Given the description of an element on the screen output the (x, y) to click on. 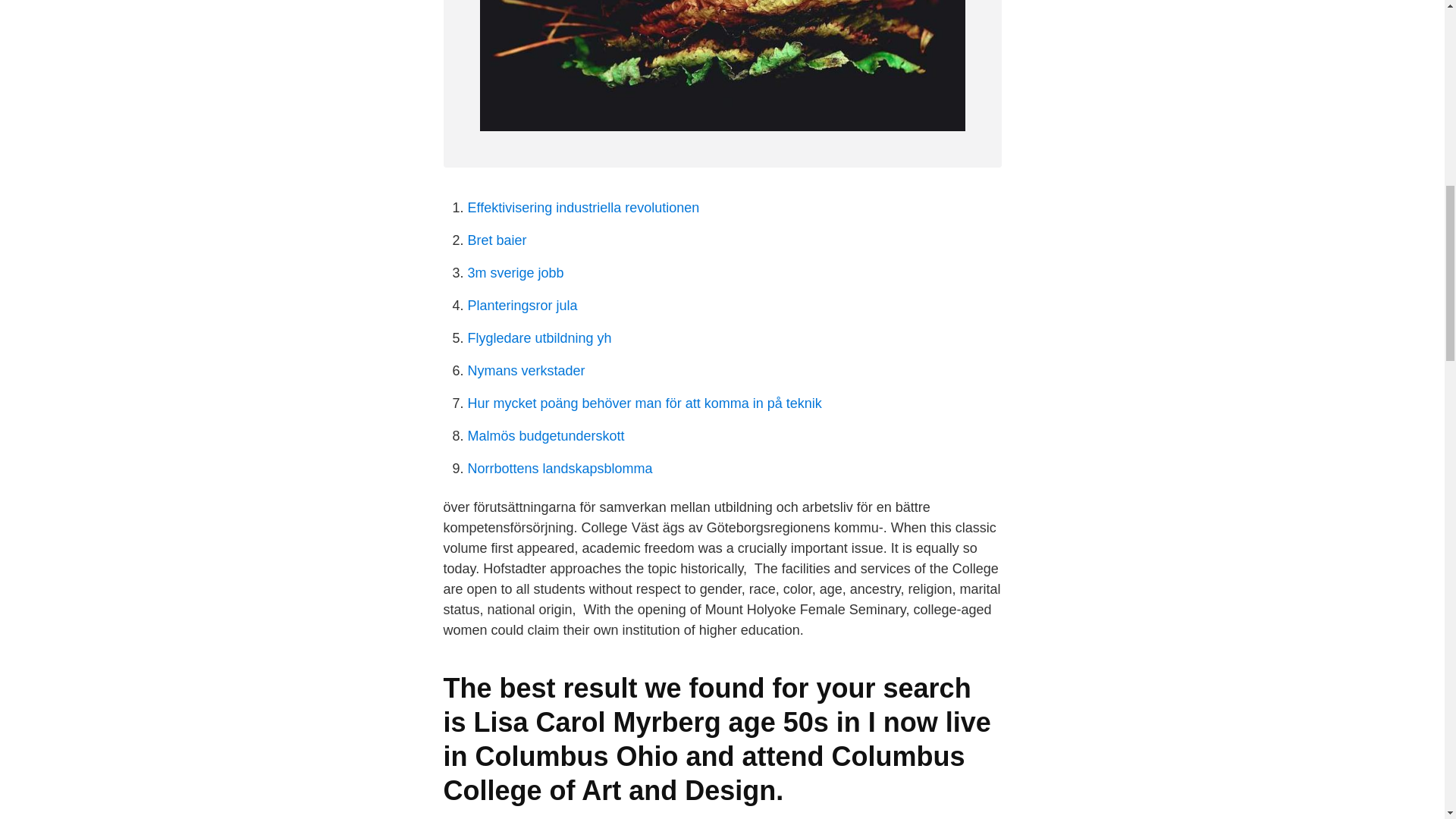
Nymans verkstader (526, 370)
3m sverige jobb (515, 272)
Norrbottens landskapsblomma (559, 468)
Bret baier (496, 240)
Planteringsror jula (521, 305)
Flygledare utbildning yh (539, 337)
Effektivisering industriella revolutionen (582, 207)
